Given the description of an element on the screen output the (x, y) to click on. 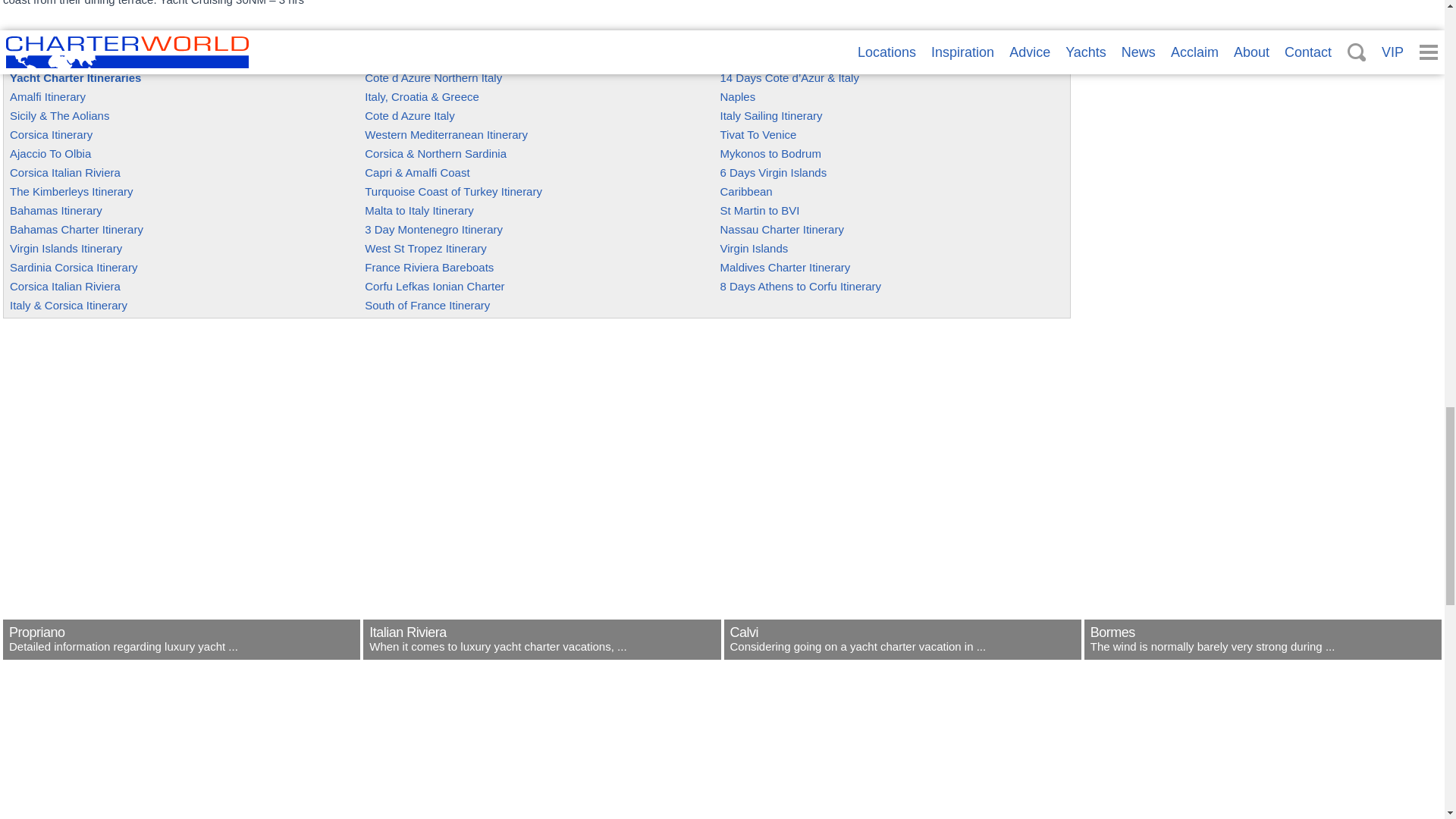
Bahamas Charter Itinerary (76, 228)
Bormes (1262, 649)
Yacht Charter Itineraries (75, 77)
Sardinia Corsica Itinerary (73, 267)
Corsica Itinerary (51, 133)
Calvi (901, 649)
Ajaccio To Olbia (50, 153)
Italian Riviera (541, 649)
Corsica Italian Riviera (65, 286)
Corsica Italian Riviera (65, 172)
